Given the description of an element on the screen output the (x, y) to click on. 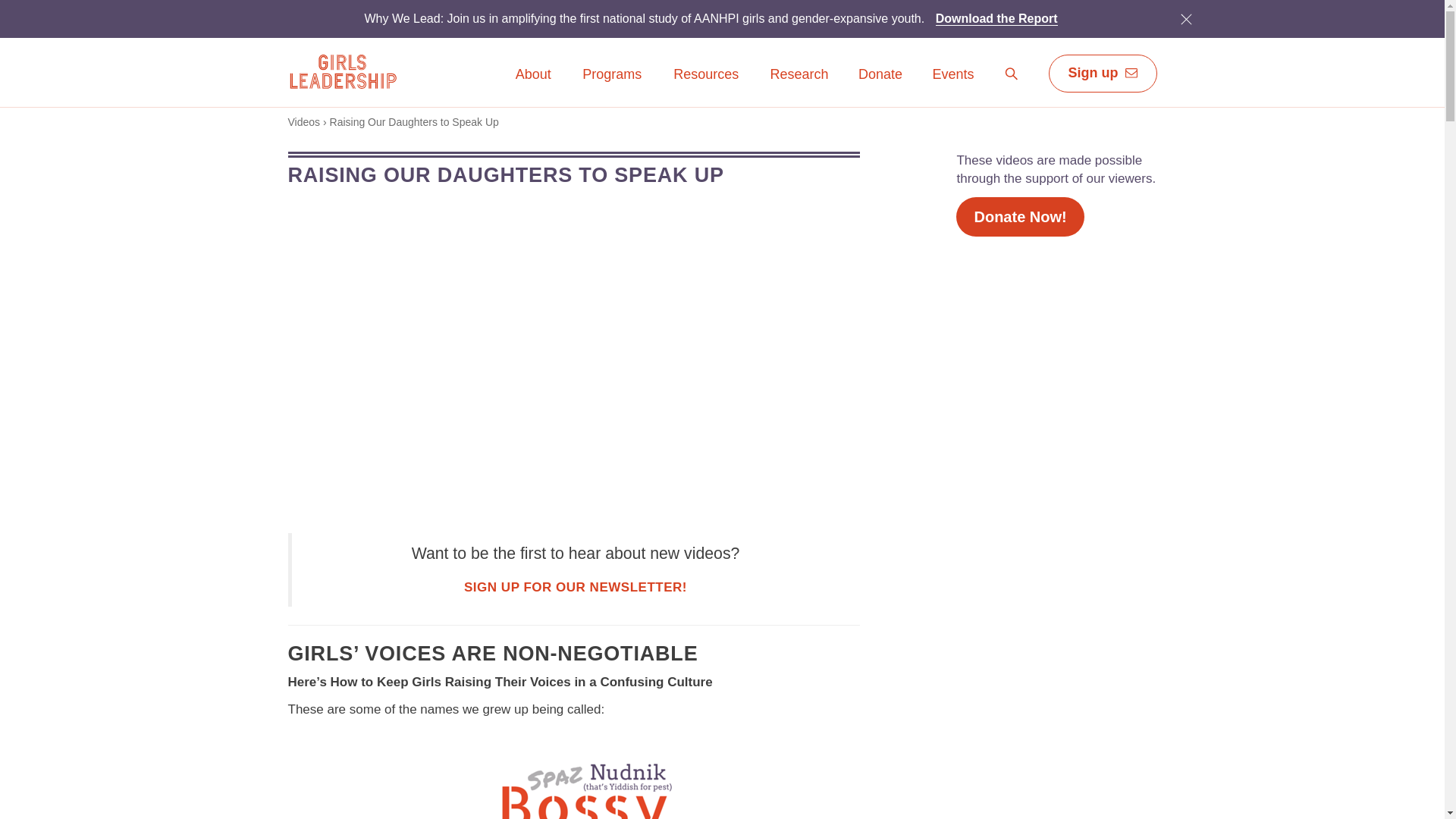
Programs (611, 84)
Programs (611, 75)
Resources (706, 84)
Events (952, 84)
SIGN UP FOR OUR NEWSLETTER! (575, 586)
Search (1012, 74)
Research (798, 75)
A6F524C7-72F2-47B1-896C-2077AF8665D0 (1185, 18)
SIGN UP FOR OUR NEWSLETTER! (575, 586)
Resources (706, 75)
Donate (879, 75)
Download the Report (997, 18)
Videos (304, 121)
Research (798, 84)
Donate (879, 84)
